Given the description of an element on the screen output the (x, y) to click on. 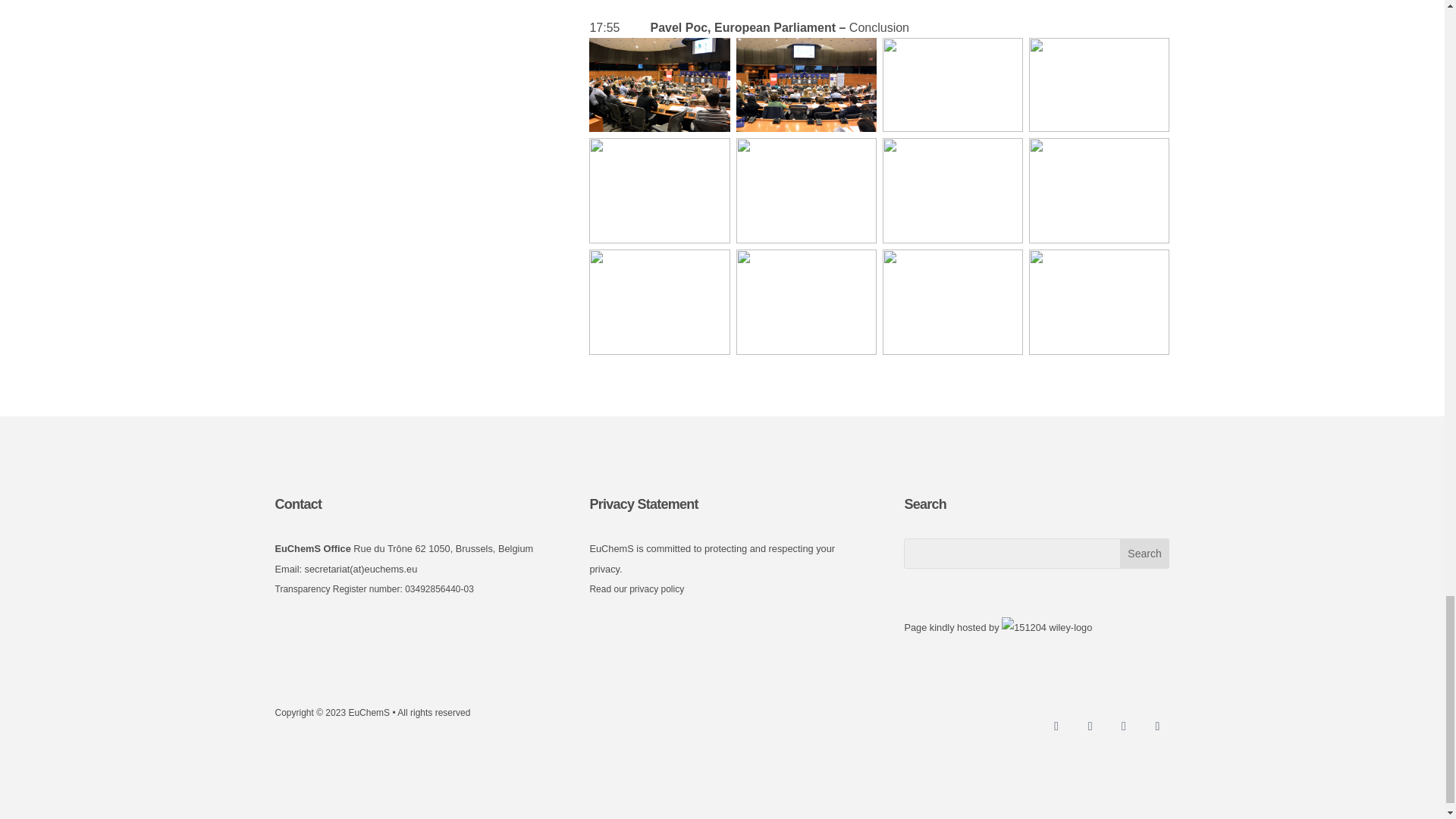
Search (1144, 553)
Follow on Linkedin (1123, 726)
Follow on Facebook (1055, 726)
Follow on Twitter (1090, 726)
Follow on Youtube (1156, 726)
